Given the description of an element on the screen output the (x, y) to click on. 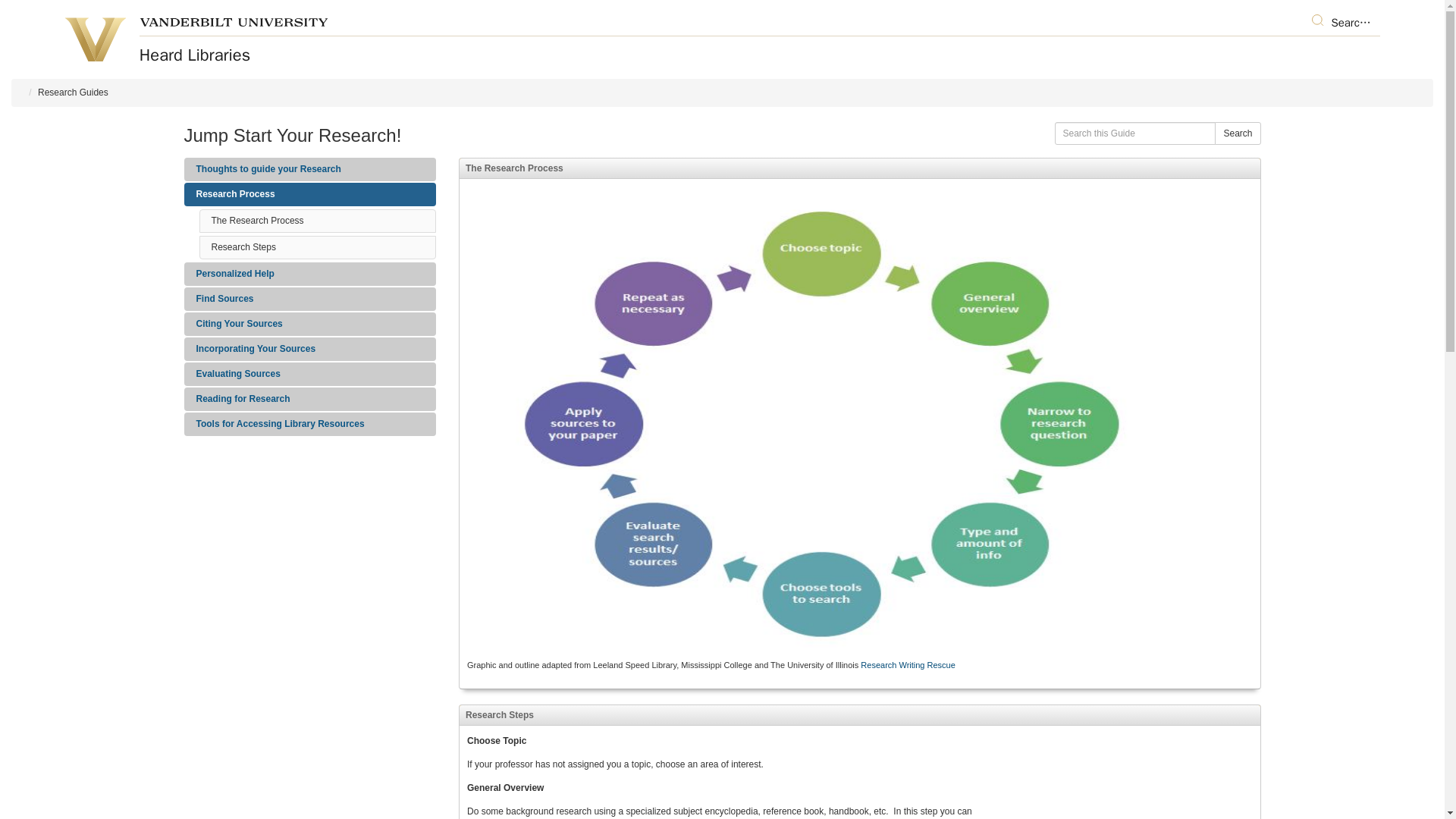
Find Sources (309, 299)
Research Process (309, 194)
Evaluating Sources (309, 373)
Research Writing Rescue (907, 664)
The Research Process (256, 220)
Citing Your Sources (309, 323)
Reading for Research (309, 399)
Search (1237, 133)
Personalized Help (309, 273)
Research Steps (243, 246)
Research Guides (72, 91)
Thoughts to guide your Research (309, 169)
Incorporating Your Sources (309, 349)
Tools for Accessing Library Resources (309, 423)
